Given the description of an element on the screen output the (x, y) to click on. 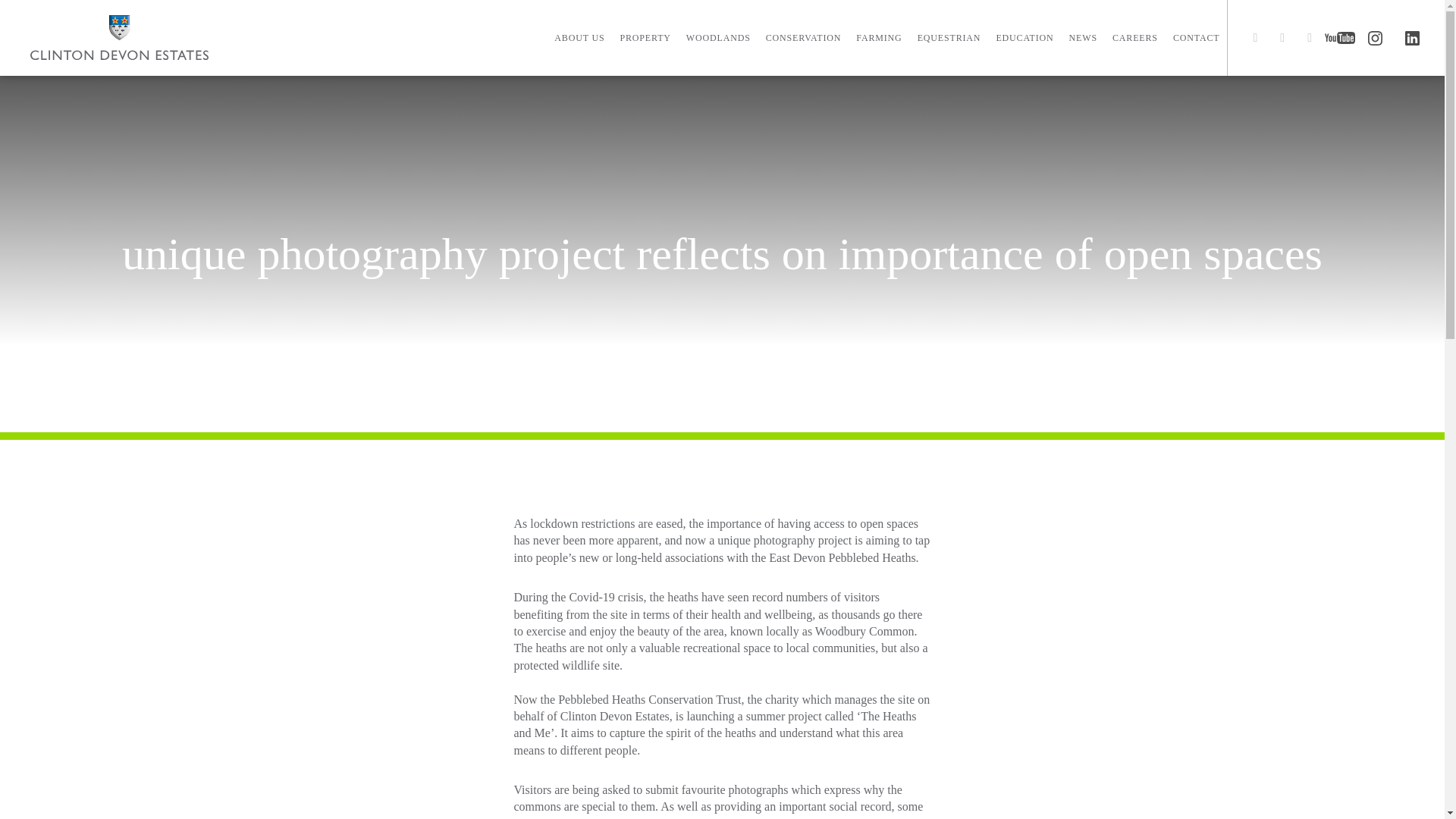
EQUESTRIAN (949, 38)
CONSERVATION (803, 38)
WOODLANDS (718, 38)
